Given the description of an element on the screen output the (x, y) to click on. 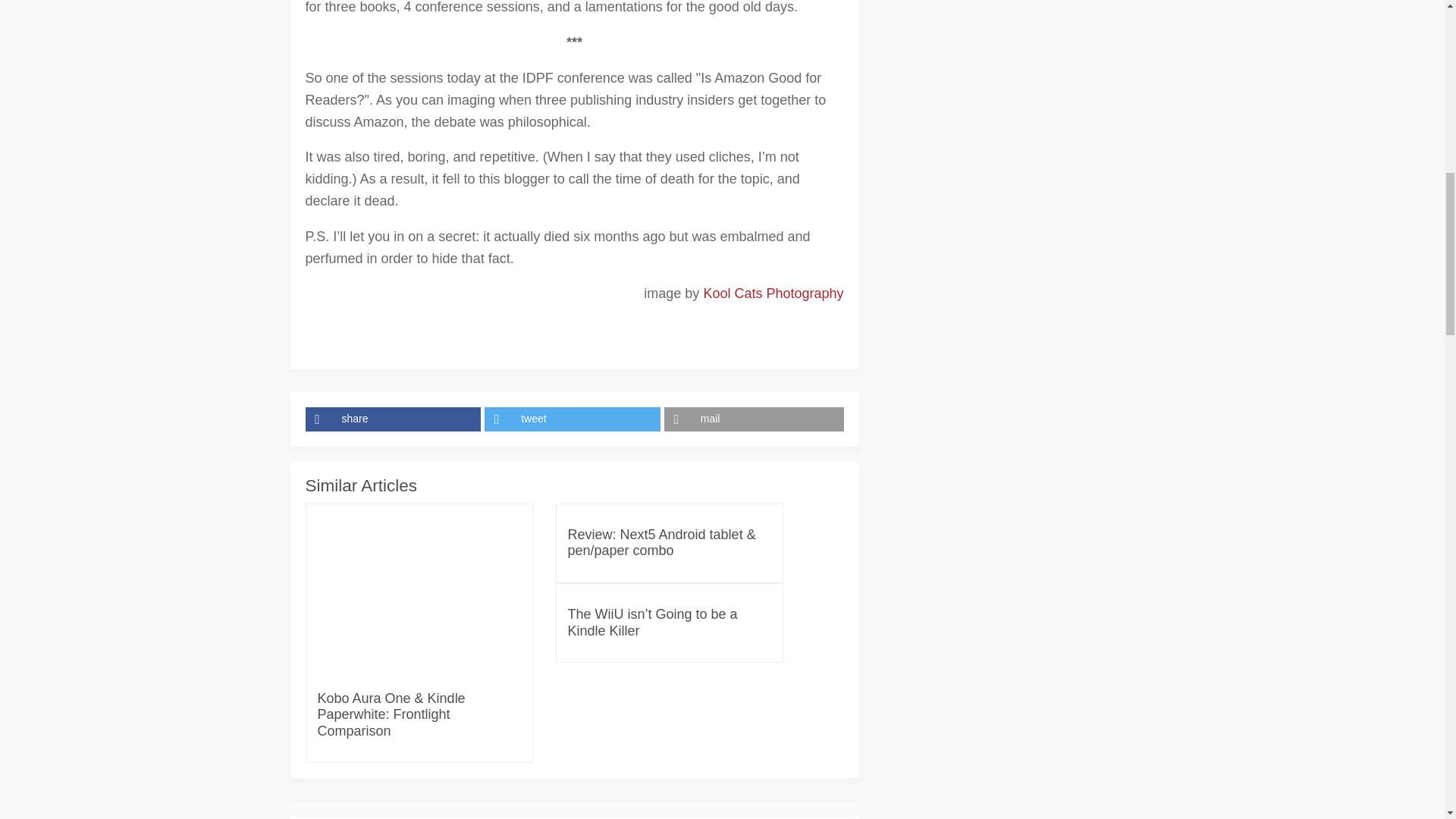
tweet (573, 419)
share (394, 419)
mail (753, 419)
Kool Cats Photography (773, 293)
